Given the description of an element on the screen output the (x, y) to click on. 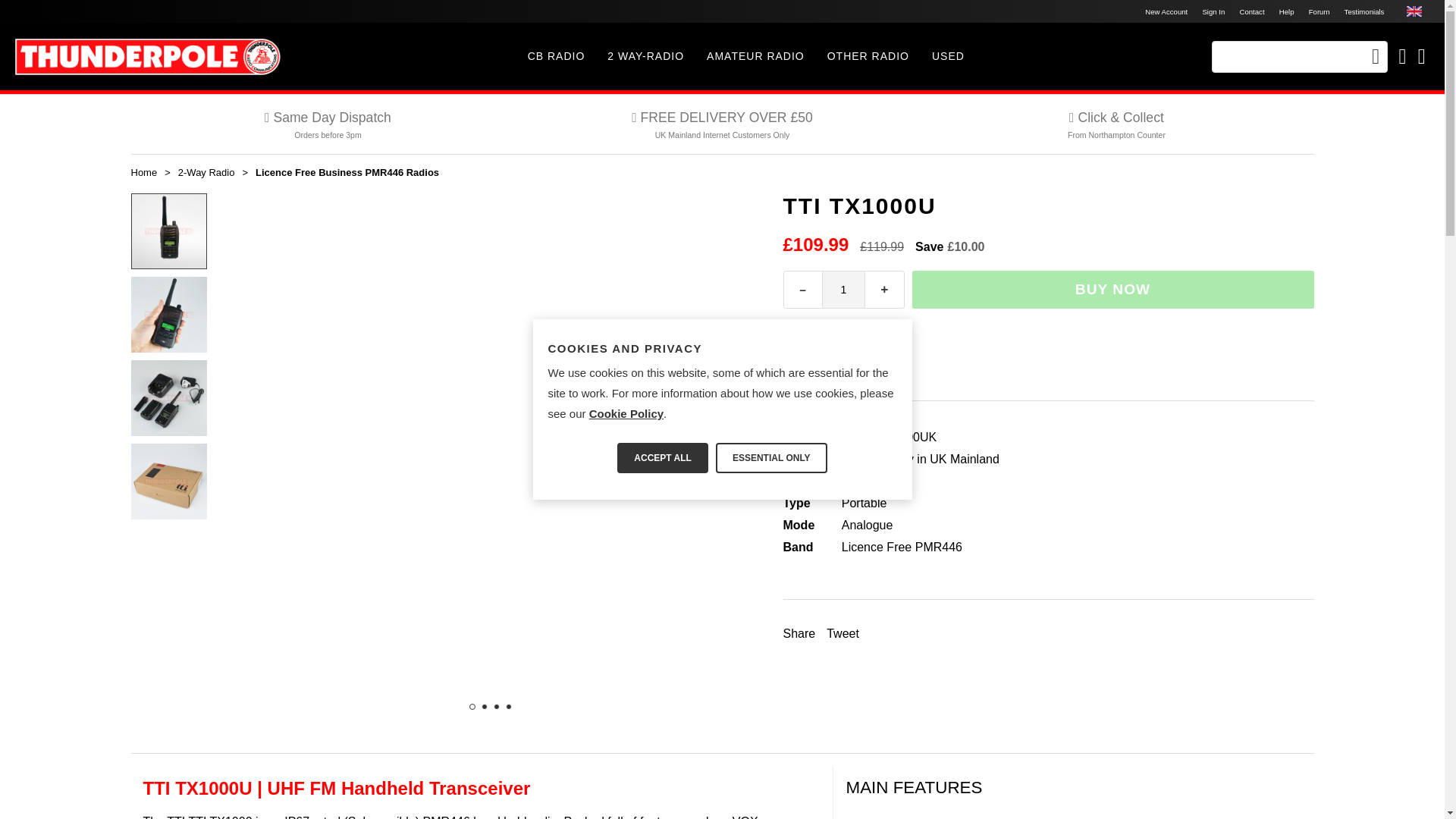
Sign In (1213, 11)
New Account (1166, 11)
Help (1286, 11)
Forum (1318, 11)
Testimonials (1363, 11)
CB RADIO (556, 56)
1 (844, 289)
Contact (1251, 11)
